Given the description of an element on the screen output the (x, y) to click on. 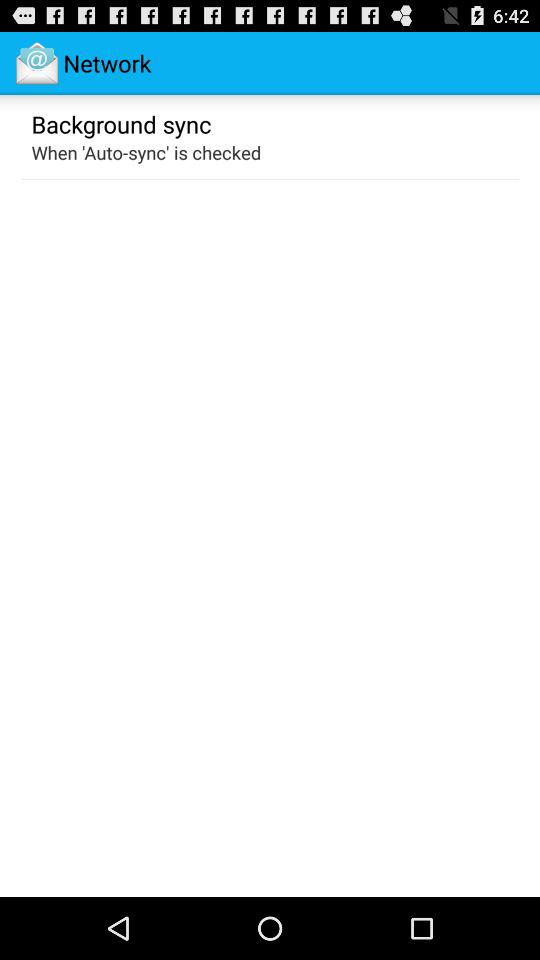
open app below background sync item (146, 151)
